Given the description of an element on the screen output the (x, y) to click on. 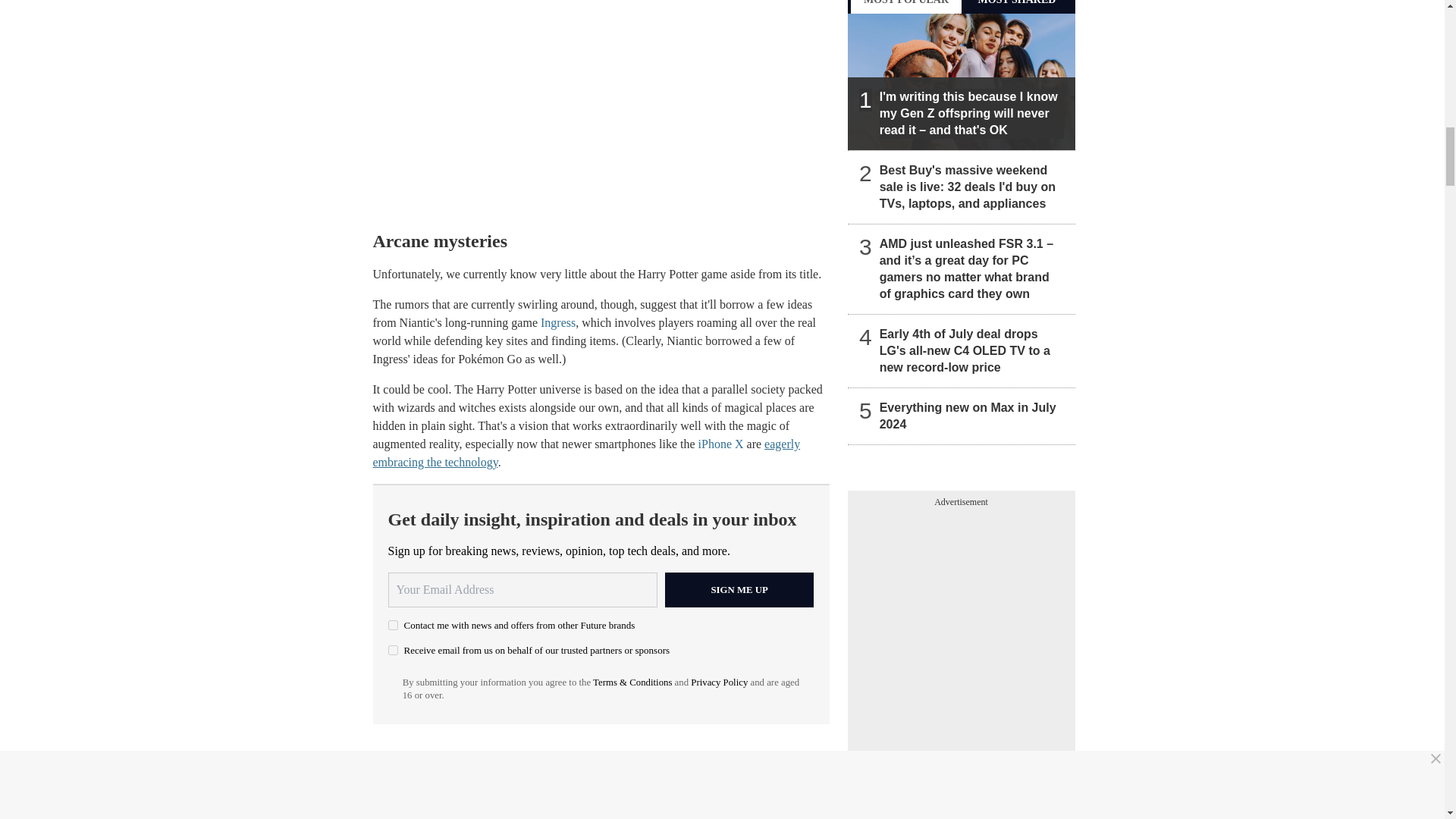
Sign me up (739, 589)
on (392, 624)
on (392, 650)
